Given the description of an element on the screen output the (x, y) to click on. 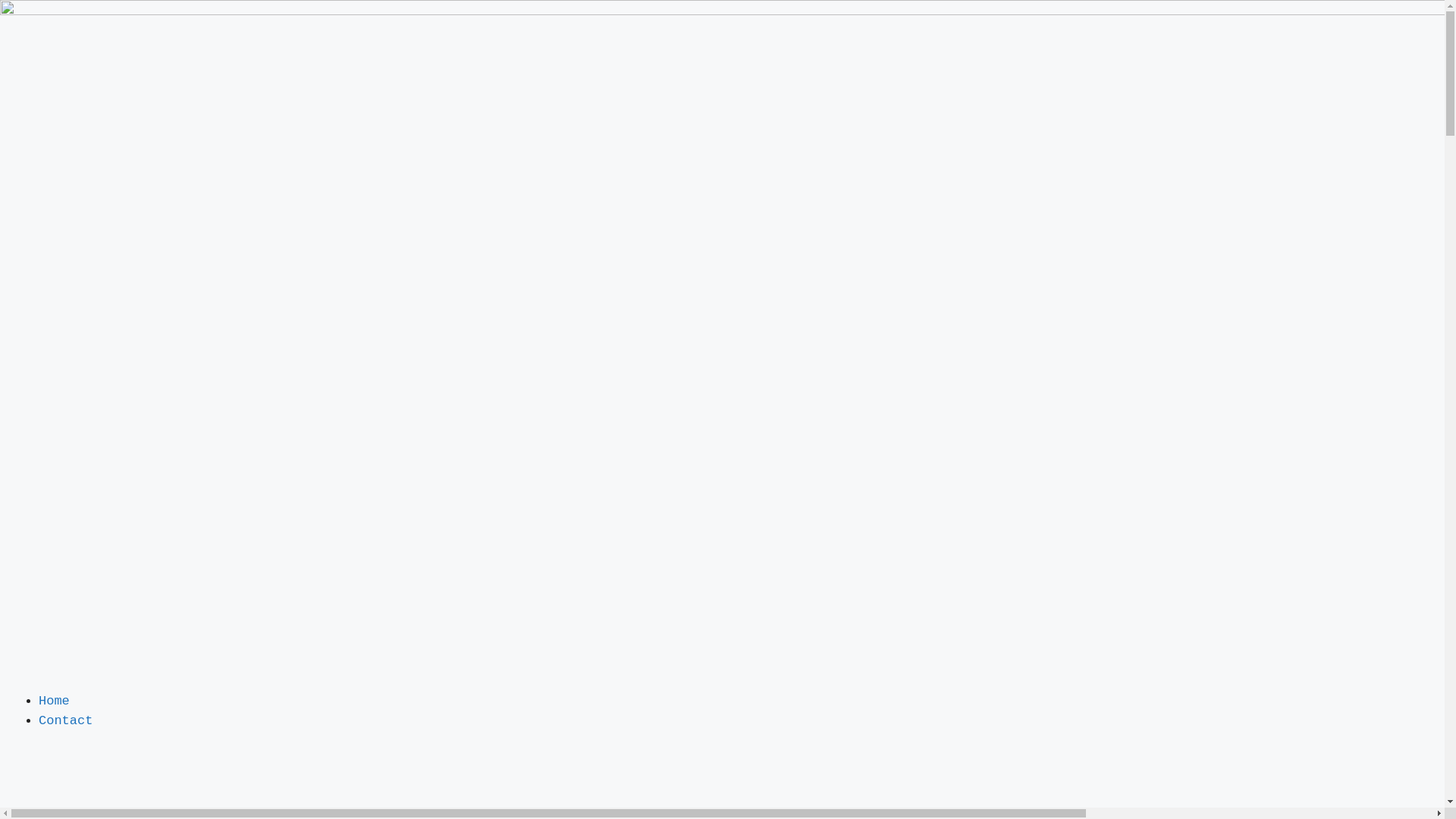
Home Element type: text (53, 700)
Contact Element type: text (65, 719)
